Given the description of an element on the screen output the (x, y) to click on. 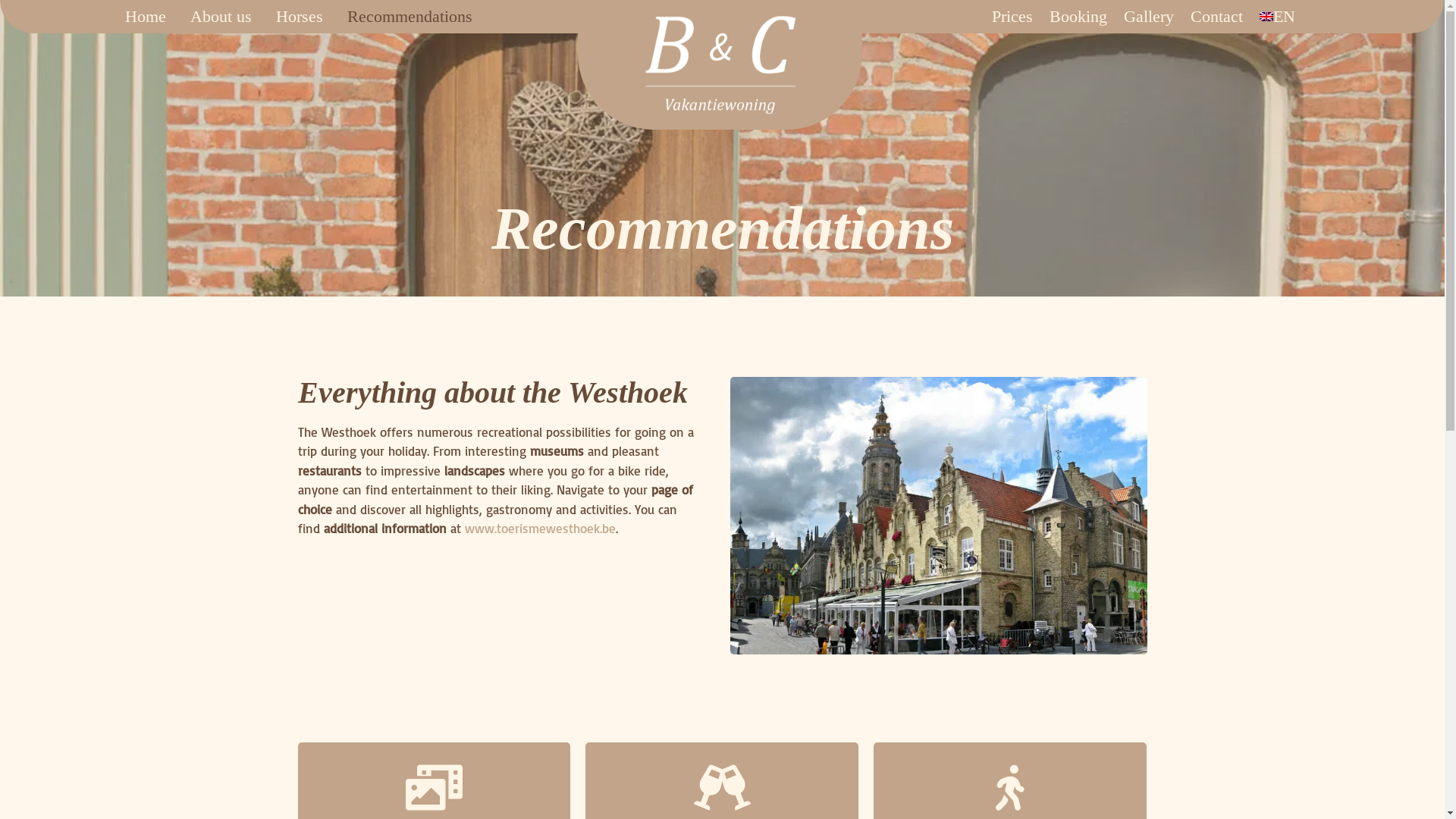
About us Element type: text (220, 16)
Booking Element type: text (1078, 16)
Horses Element type: text (299, 16)
Home Element type: text (144, 16)
Prices Element type: text (1012, 16)
www.toerismewesthoek.be Element type: text (539, 528)
Recommendations Element type: text (409, 16)
Contact Element type: text (1216, 16)
Gallery Element type: text (1148, 16)
Recommendations 1 Element type: hover (937, 515)
EN Element type: text (1277, 16)
